Given the description of an element on the screen output the (x, y) to click on. 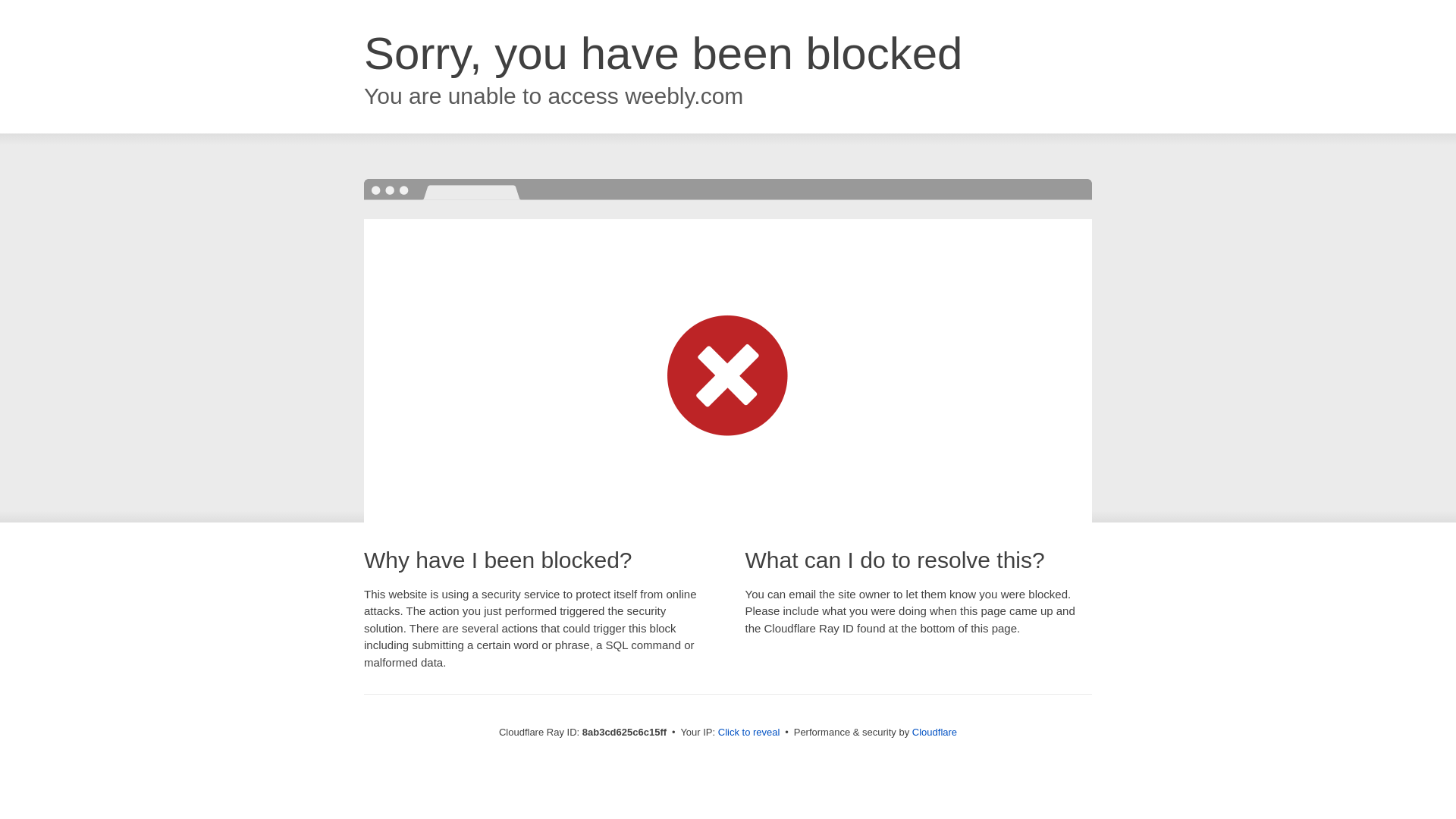
Click to reveal (748, 732)
Cloudflare (934, 731)
